Given the description of an element on the screen output the (x, y) to click on. 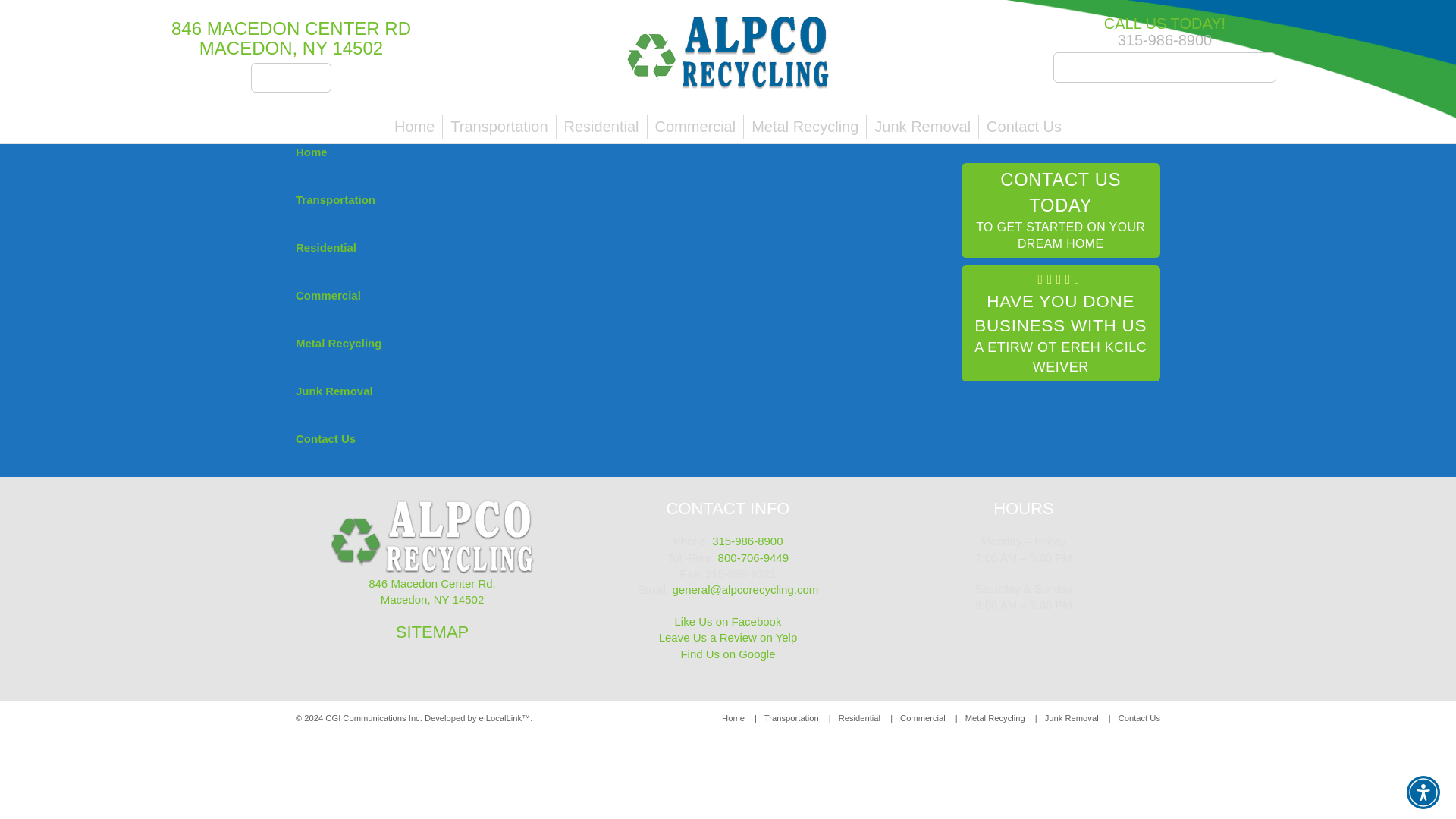
Residential (1060, 209)
Residential (325, 246)
Residential (601, 126)
Home (859, 717)
Contact Us (311, 151)
Transportation (1023, 126)
Junk Removal (498, 126)
Metal Recycling (333, 390)
